Given the description of an element on the screen output the (x, y) to click on. 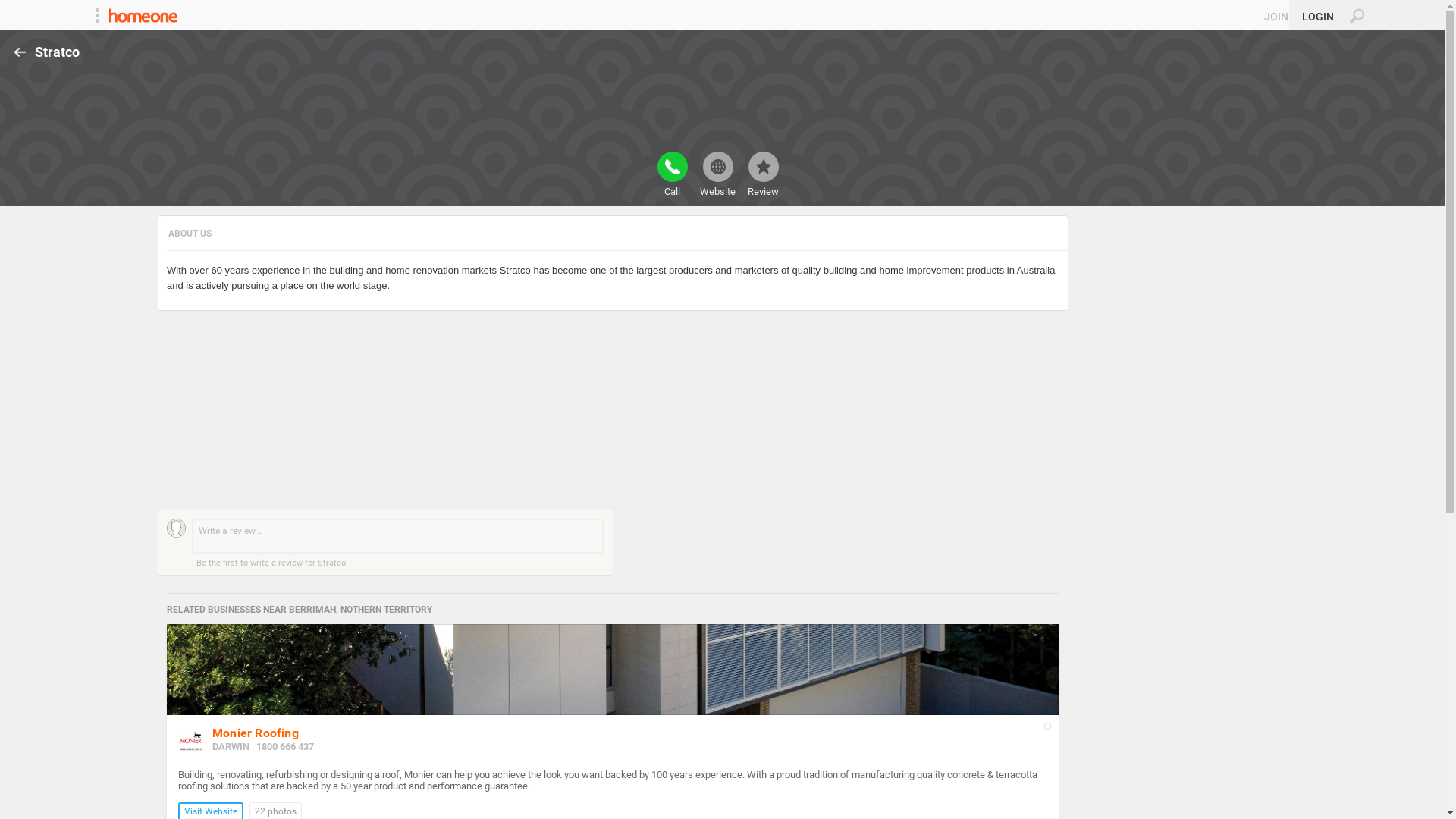
Website Element type: text (717, 174)
Submit Element type: text (18, 8)
Monier Roofing Element type: text (255, 732)
1800 666 437 Element type: text (284, 746)
Call Element type: text (671, 174)
